Given the description of an element on the screen output the (x, y) to click on. 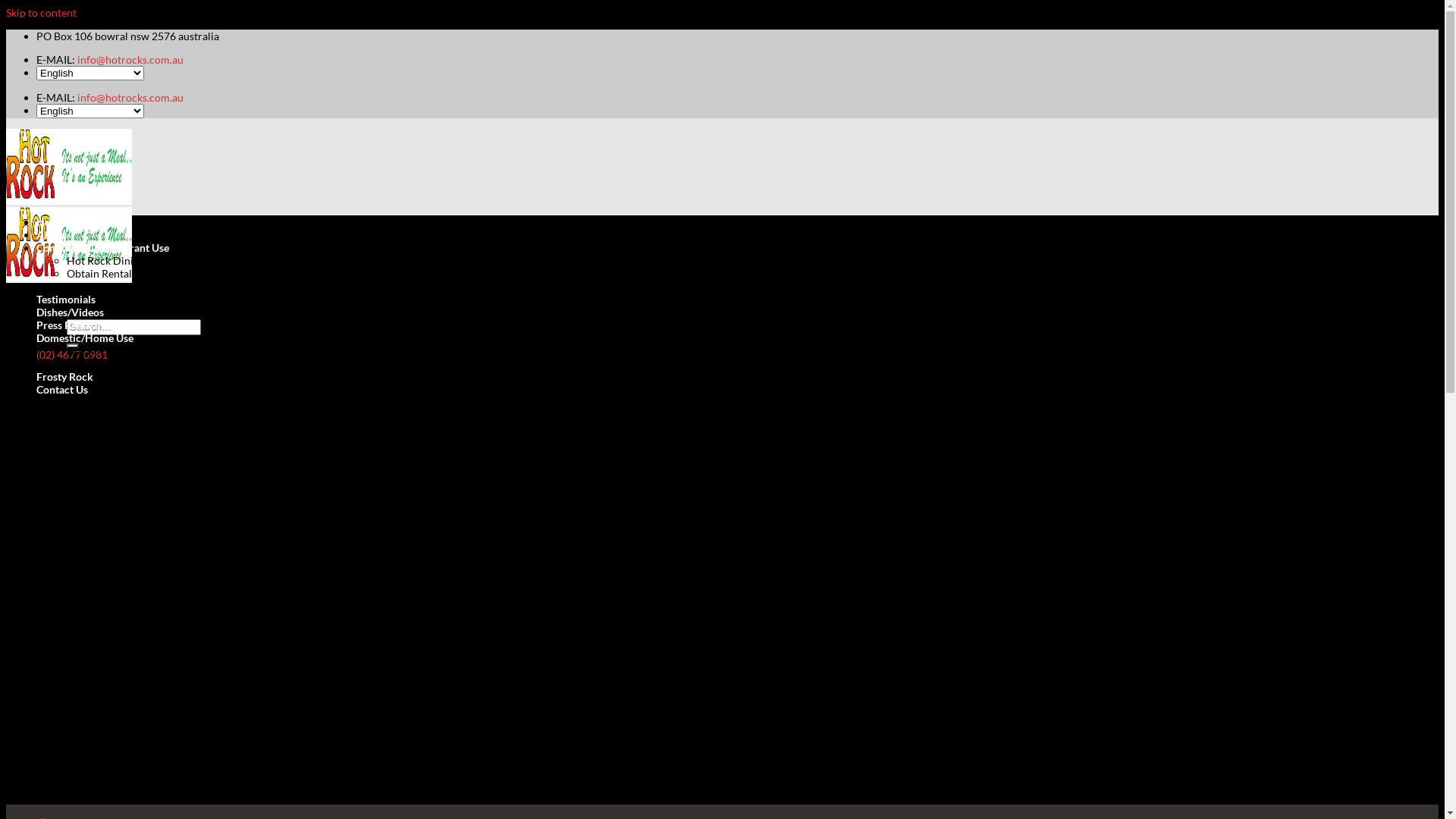
Testimonials Element type: text (65, 298)
Press Releases Element type: text (70, 324)
Obtain Rental Rates Element type: text (113, 272)
Products Element type: text (87, 285)
Home Element type: text (50, 221)
Hotrocks - Hotrocks Dining Oven Systems Element type: hover (68, 239)
About Element type: text (50, 234)
info@hotrocks.com.au Element type: text (130, 97)
Domestic/Home Use Element type: text (84, 337)
Contact Us Element type: text (61, 388)
Frosty Rock for Home Use Element type: text (128, 363)
Hot Rock for Home Use Element type: text (122, 350)
(02) 4677 0981 Element type: text (71, 354)
Commercial/Restaurant Use Element type: text (102, 247)
Dishes/Videos Element type: text (69, 311)
Skip to content Element type: text (41, 12)
Frosty Rock Element type: text (64, 376)
Hot Rock Dining Systems/Packages Element type: text (149, 260)
info@hotrocks.com.au Element type: text (130, 59)
